Given the description of an element on the screen output the (x, y) to click on. 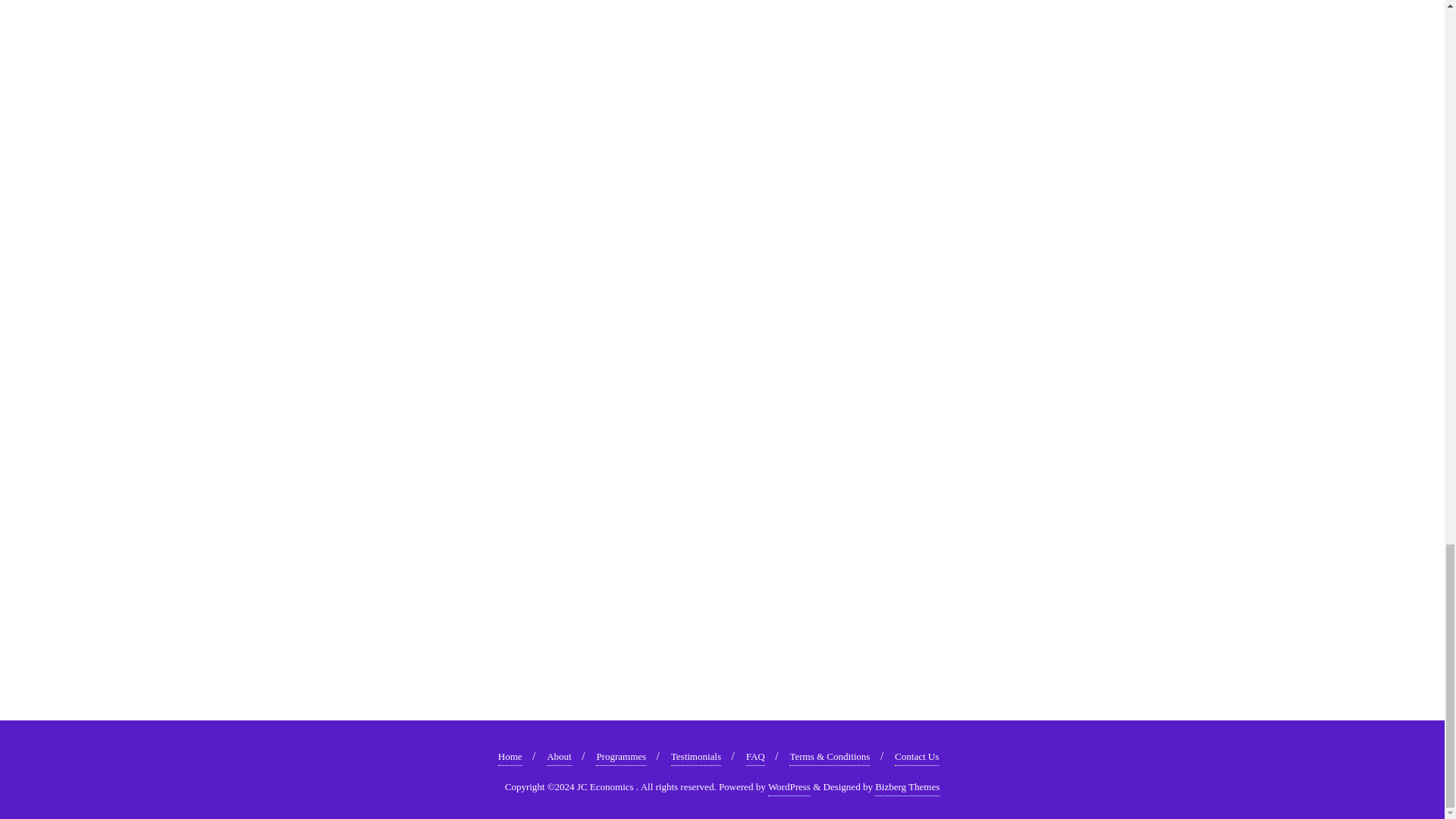
Bizberg Themes (907, 787)
FAQ (755, 756)
Programmes (620, 756)
WordPress (789, 787)
Testimonials (695, 756)
About (559, 756)
Home (509, 756)
Contact Us (917, 756)
